Given the description of an element on the screen output the (x, y) to click on. 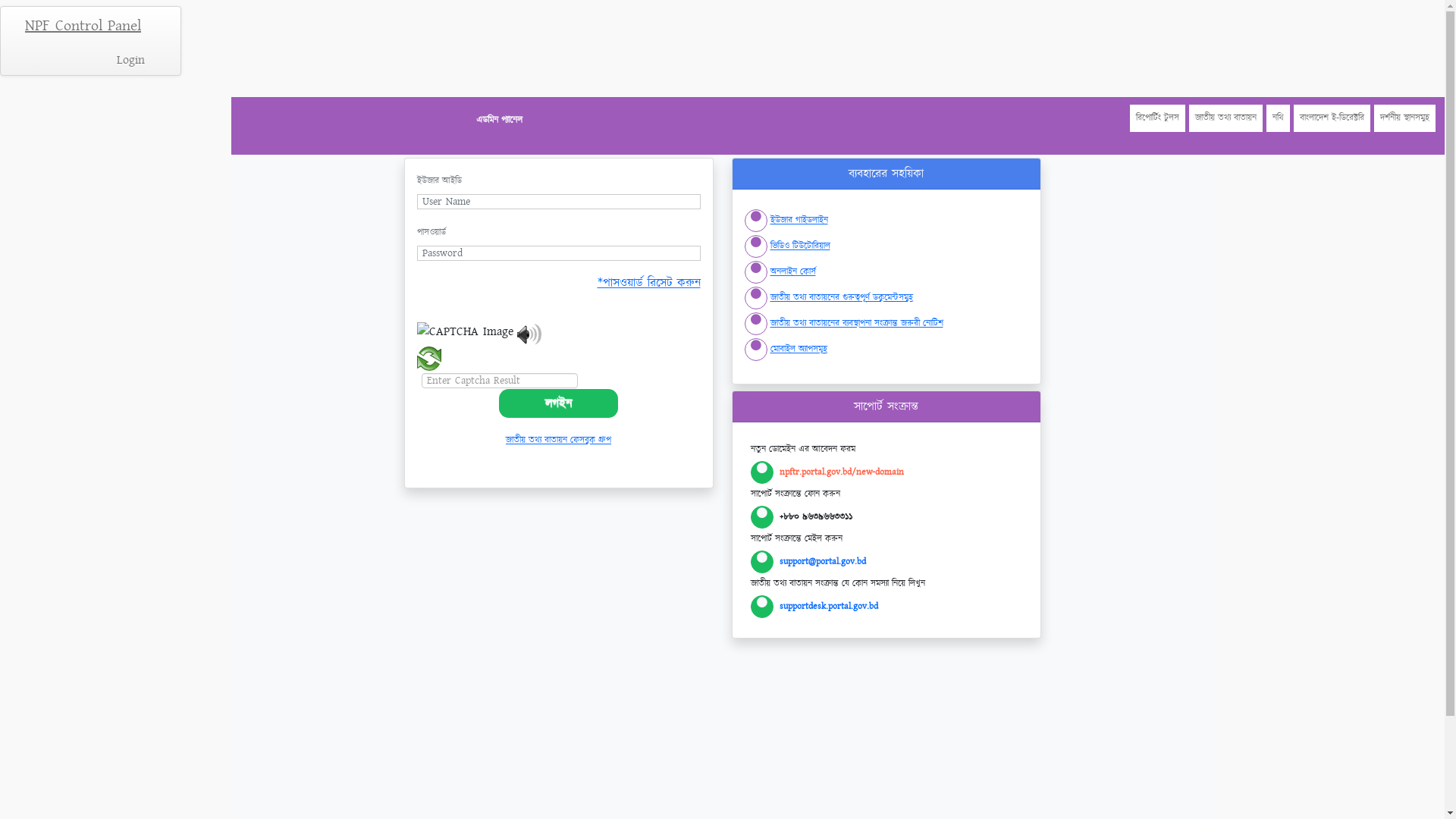
support@portal.gov.bd Element type: text (822, 561)
npftr.portal.gov.bd/new-domain Element type: text (841, 471)
supportdesk.portal.gov.bd Element type: text (828, 605)
NPF Control Panel Element type: text (82, 25)
Refresh Image Element type: hover (429, 361)
Login Element type: text (130, 59)
captcha Element type: hover (558, 346)
